Given the description of an element on the screen output the (x, y) to click on. 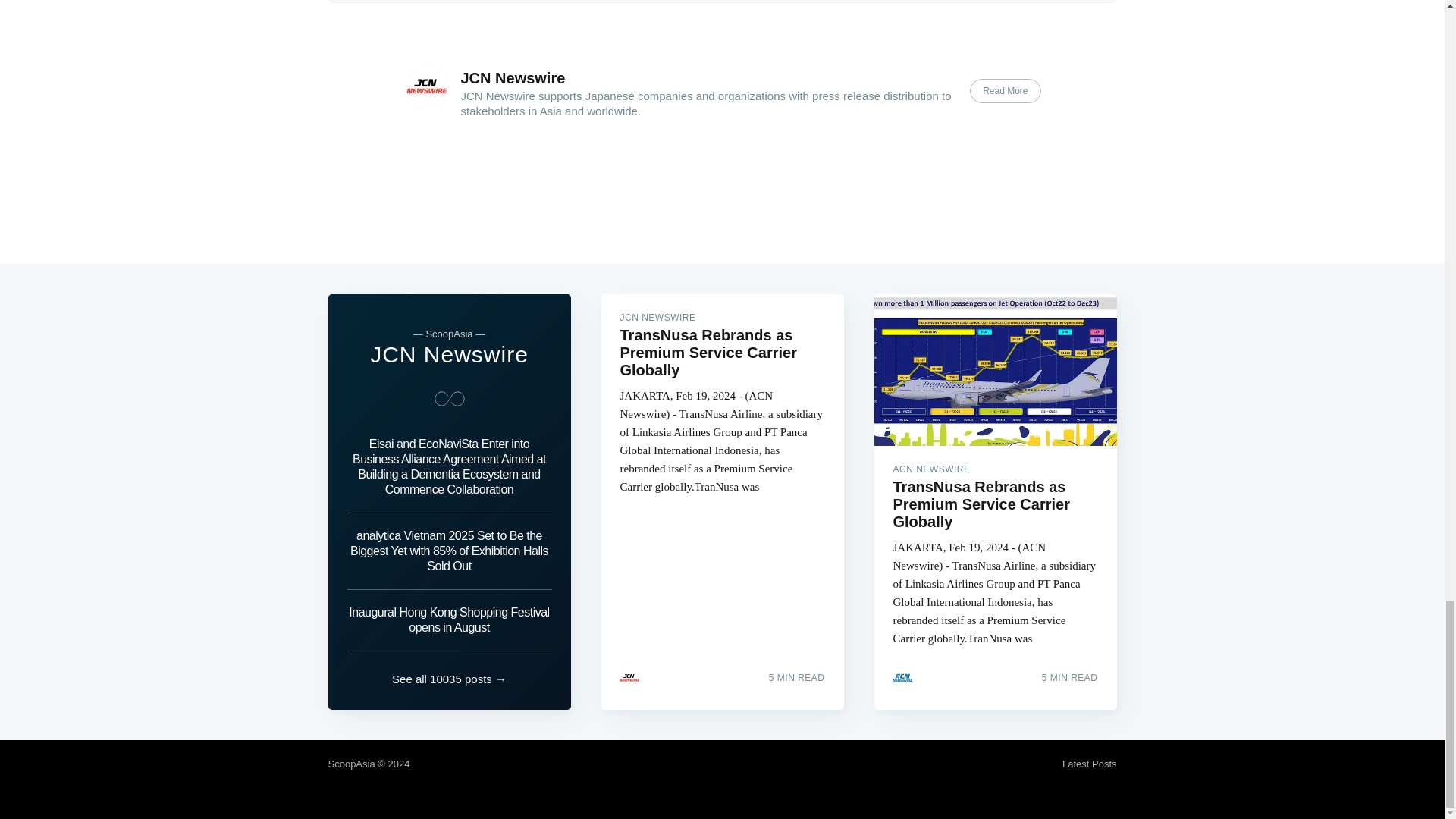
Read More (1005, 90)
Latest Posts (1089, 764)
Inaugural Hong Kong Shopping Festival opens in August (449, 620)
ScoopAsia (350, 763)
JCN Newswire (448, 354)
JCN Newswire (513, 77)
